Given the description of an element on the screen output the (x, y) to click on. 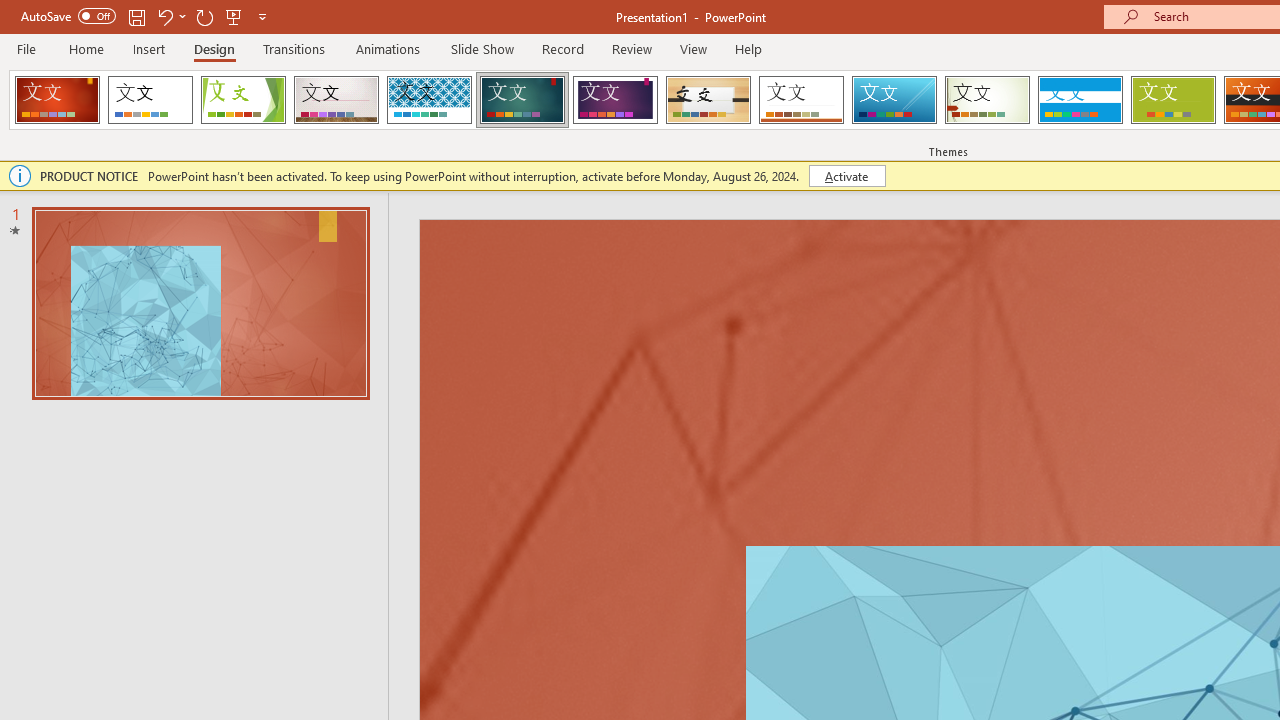
Ion Boardroom (615, 100)
FadeVTI (57, 100)
Ion (522, 100)
Banded (1080, 100)
